Given the description of an element on the screen output the (x, y) to click on. 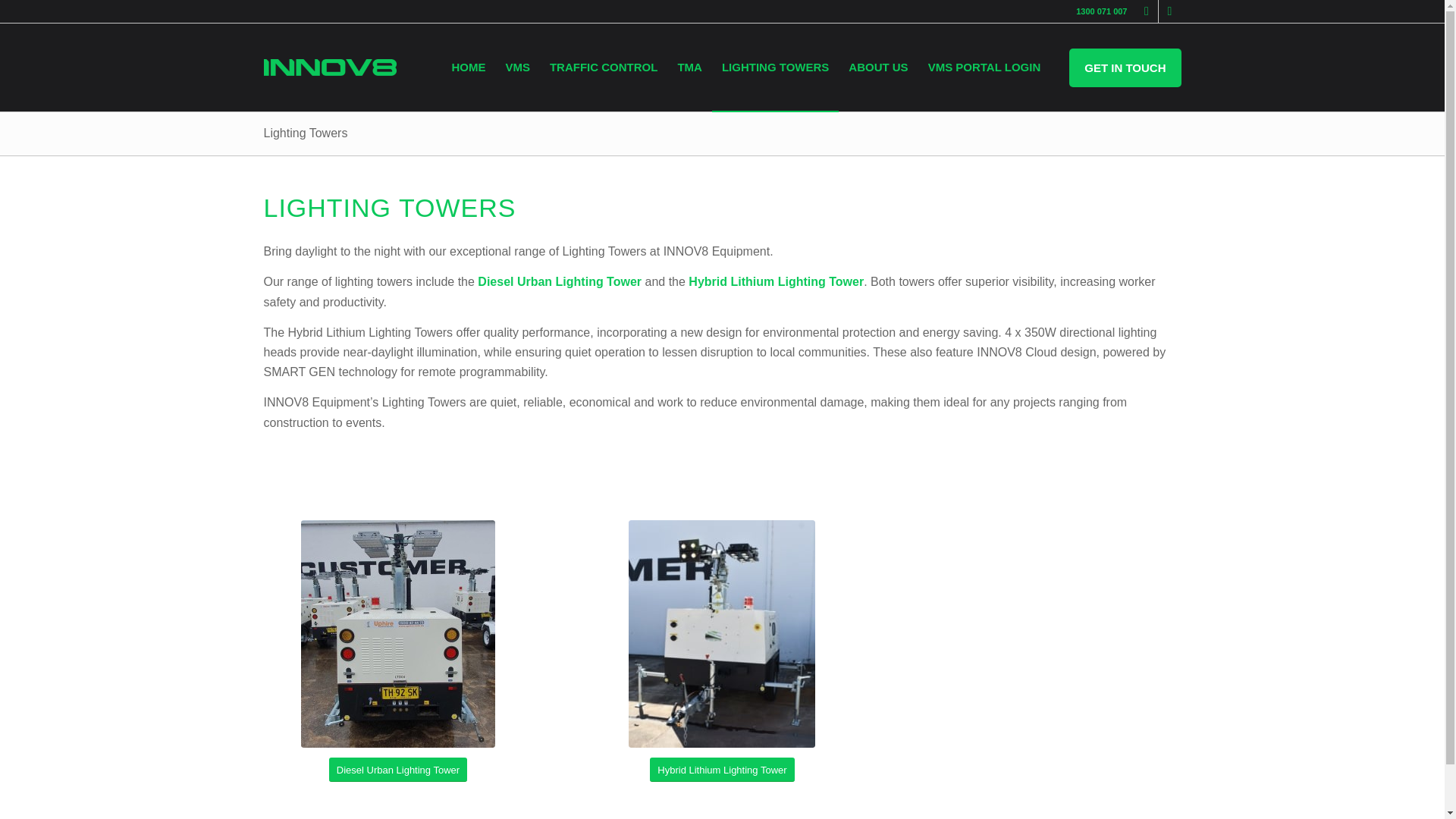
VMS PORTAL LOGIN (984, 67)
Hybrid Lithium Lighting Tower (775, 281)
Diesel Urban Lighting Tower (398, 769)
Facebook (1146, 11)
Lighting Towers (305, 132)
1300 071 007 (1100, 10)
Permanent Link: Lighting Towers (305, 132)
LIGHTING TOWERS (774, 67)
LinkedIn (1169, 11)
ABOUT US (877, 67)
